Given the description of an element on the screen output the (x, y) to click on. 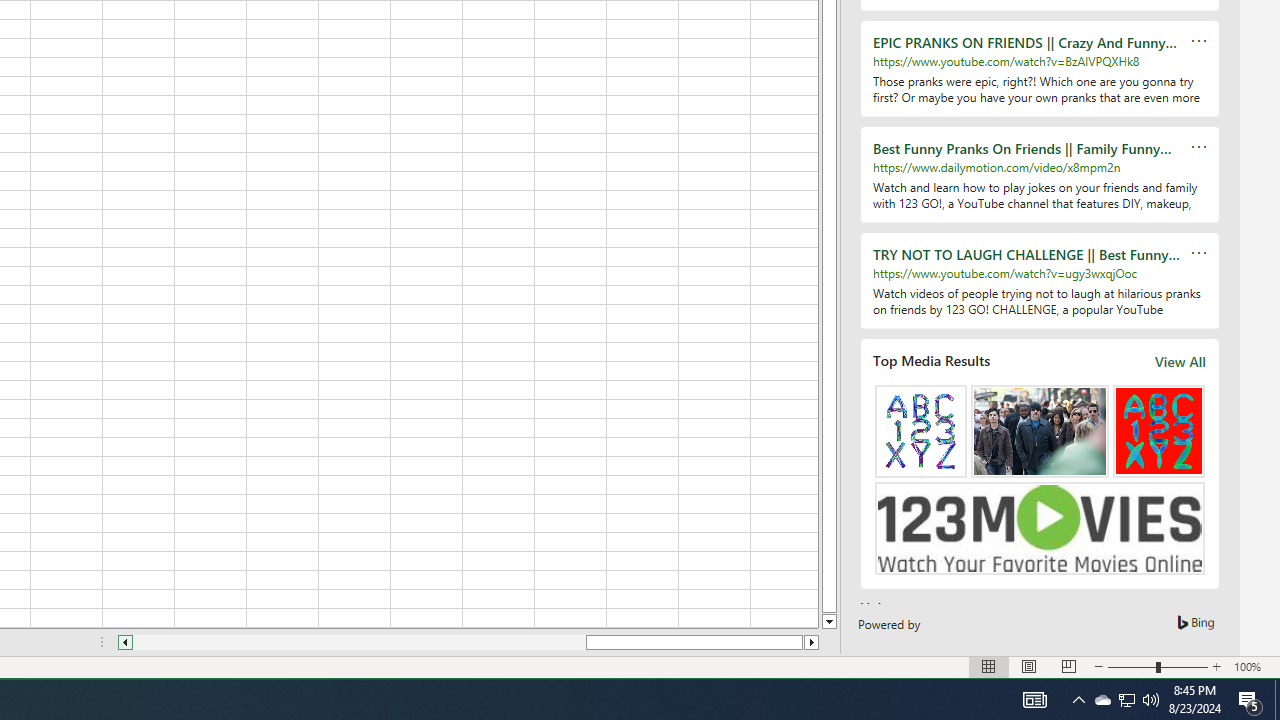
Column right (811, 642)
Zoom (1158, 667)
Class: NetUIScrollBar (468, 642)
Q2790: 100% (1151, 699)
Normal (988, 667)
